Given the description of an element on the screen output the (x, y) to click on. 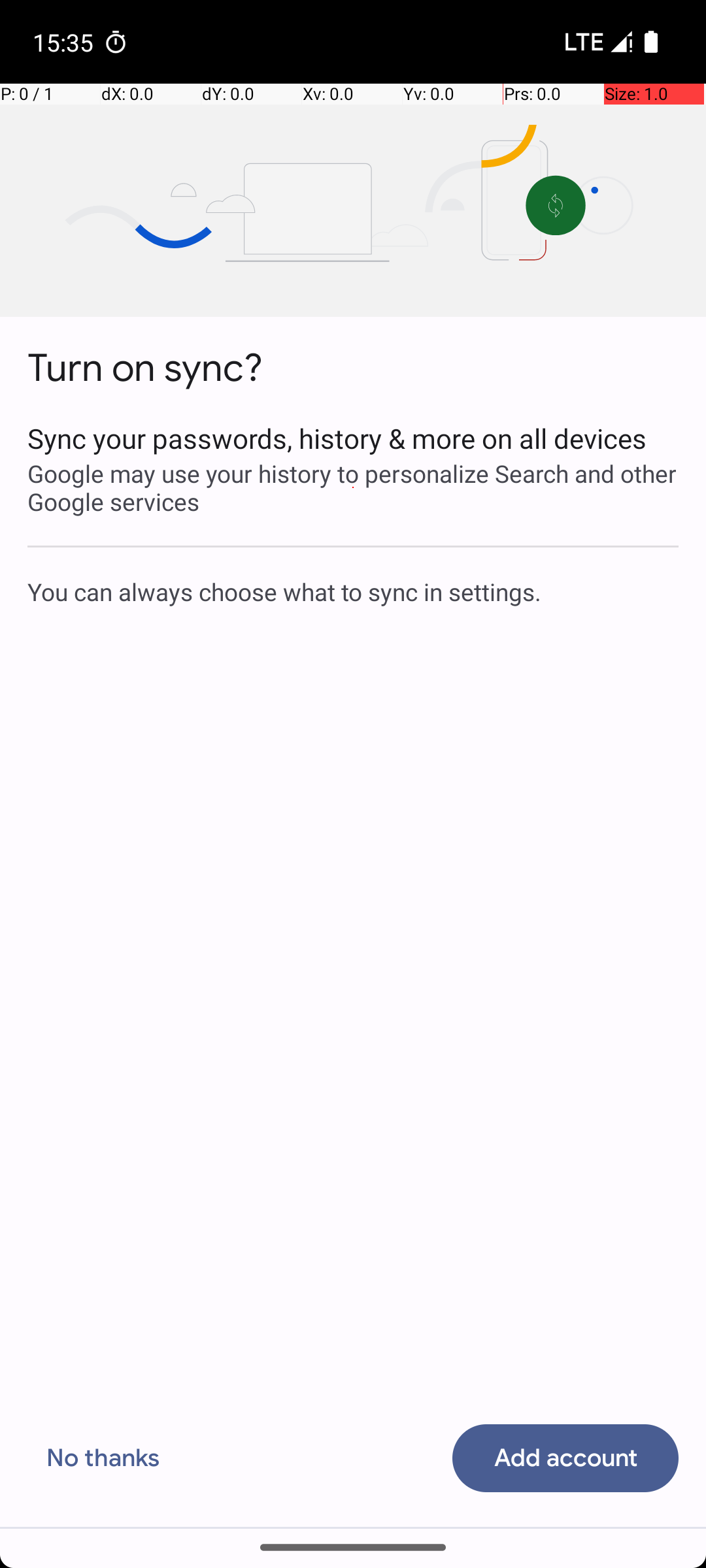
No thanks Element type: android.widget.Button (102, 1458)
Add account Element type: android.widget.Button (565, 1458)
Turn on sync? Element type: android.widget.TextView (144, 368)
Sync your passwords, history & more on all devices Element type: android.widget.TextView (352, 437)
Google may use your history to personalize Search and other Google services Element type: android.widget.TextView (352, 487)
You can always choose what to sync in settings. Element type: android.widget.TextView (352, 591)
